Given the description of an element on the screen output the (x, y) to click on. 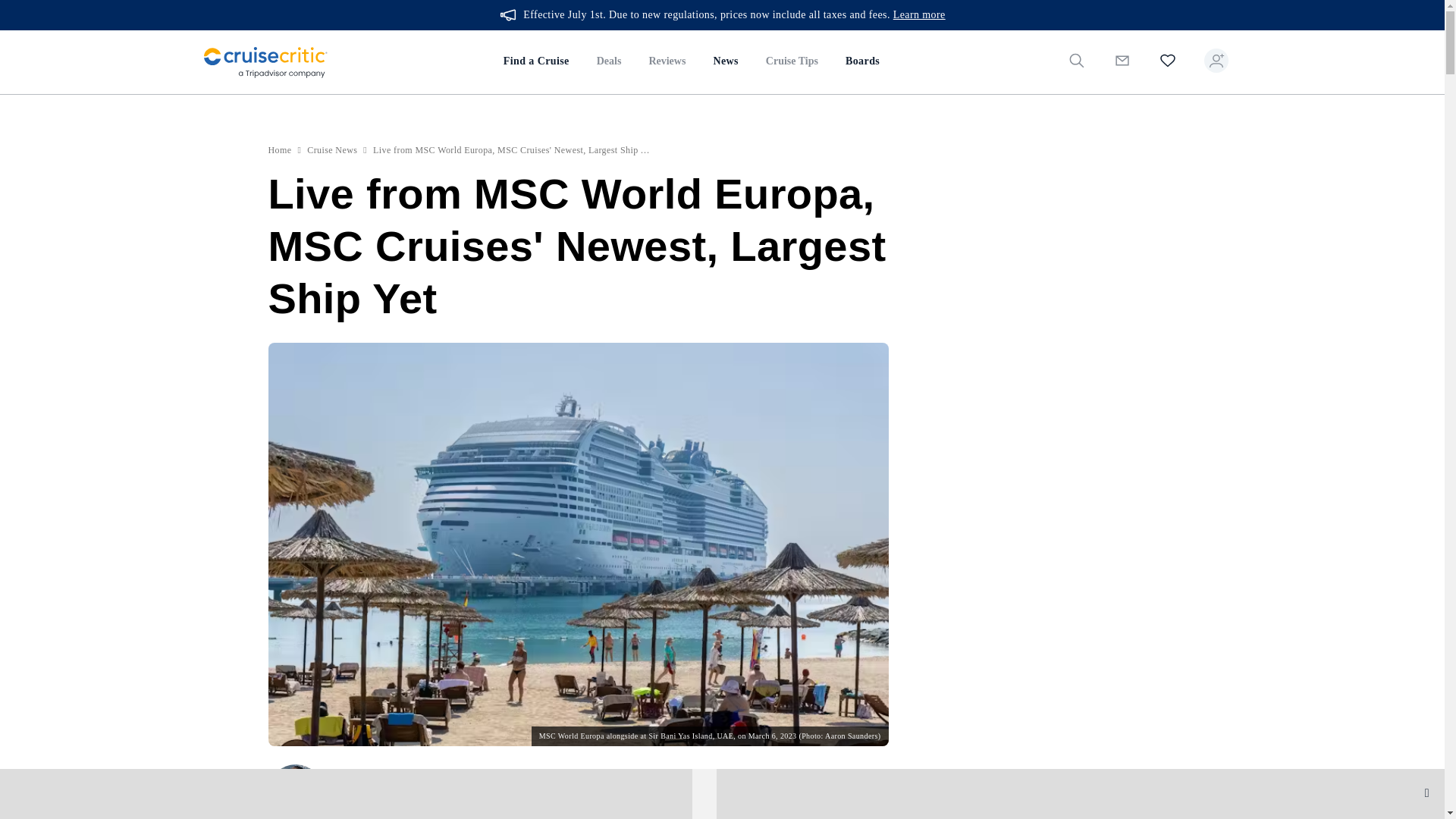
Boards (861, 62)
Cruise News (331, 150)
Home (279, 150)
Find a Cruise (536, 62)
Reviews (666, 62)
Cruise Tips (791, 62)
Learn more (918, 15)
